Given the description of an element on the screen output the (x, y) to click on. 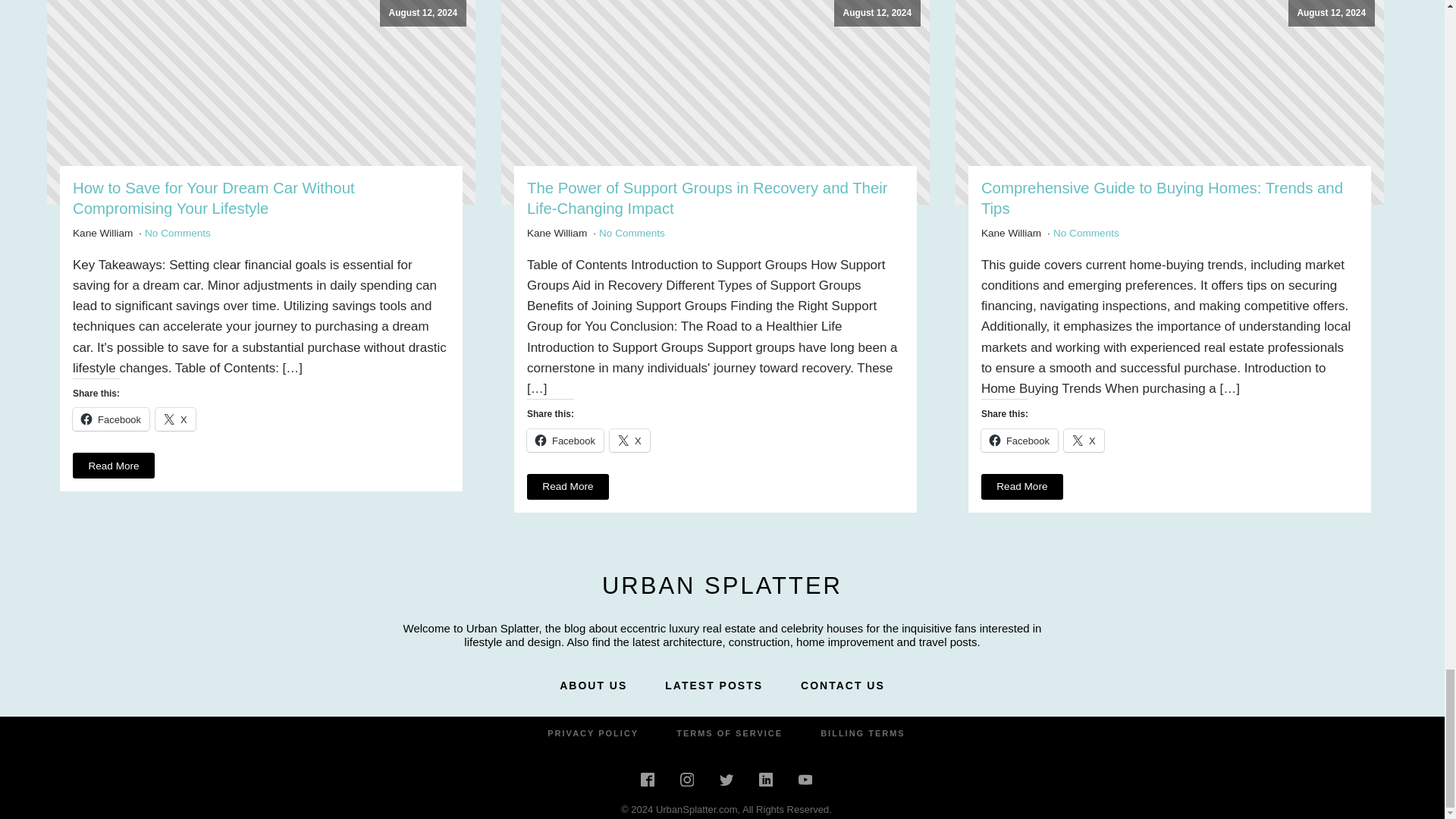
Click to share on Facebook (1019, 440)
Click to share on X (1083, 440)
Click to share on Facebook (565, 440)
Click to share on X (175, 418)
Click to share on X (629, 440)
Click to share on Facebook (110, 418)
